Given the description of an element on the screen output the (x, y) to click on. 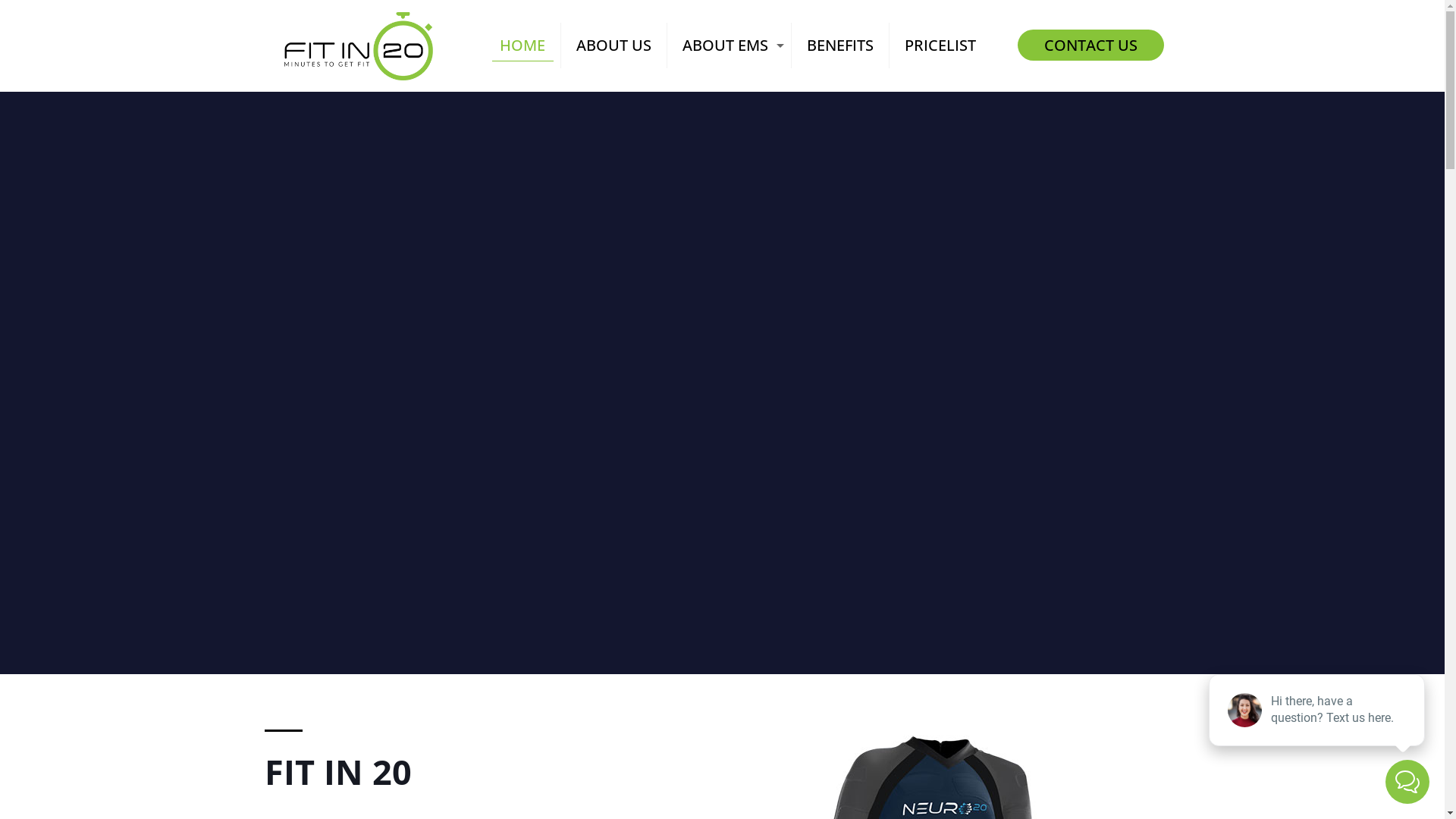
ABOUT US Element type: text (614, 45)
PRICELIST Element type: text (940, 45)
BENEFITS Element type: text (840, 45)
CONTACT US Element type: text (1090, 44)
FIT IN 20 Element type: hover (358, 45)
ABOUT EMS Element type: text (729, 45)
HOME Element type: text (522, 45)
